Given the description of an element on the screen output the (x, y) to click on. 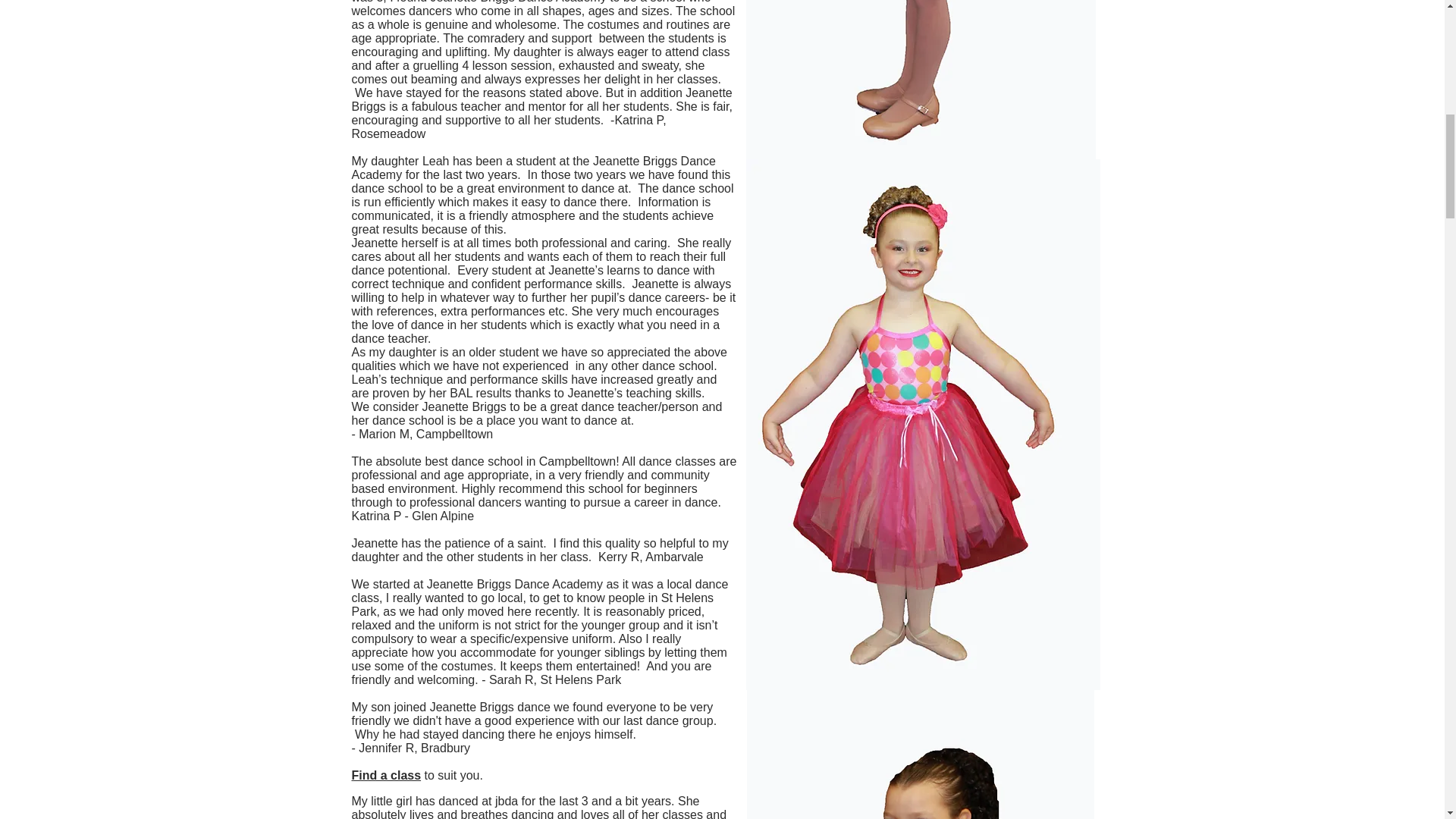
Find a class (387, 775)
Jeanette Briggs Kids Dance.jpg (919, 754)
